Given the description of an element on the screen output the (x, y) to click on. 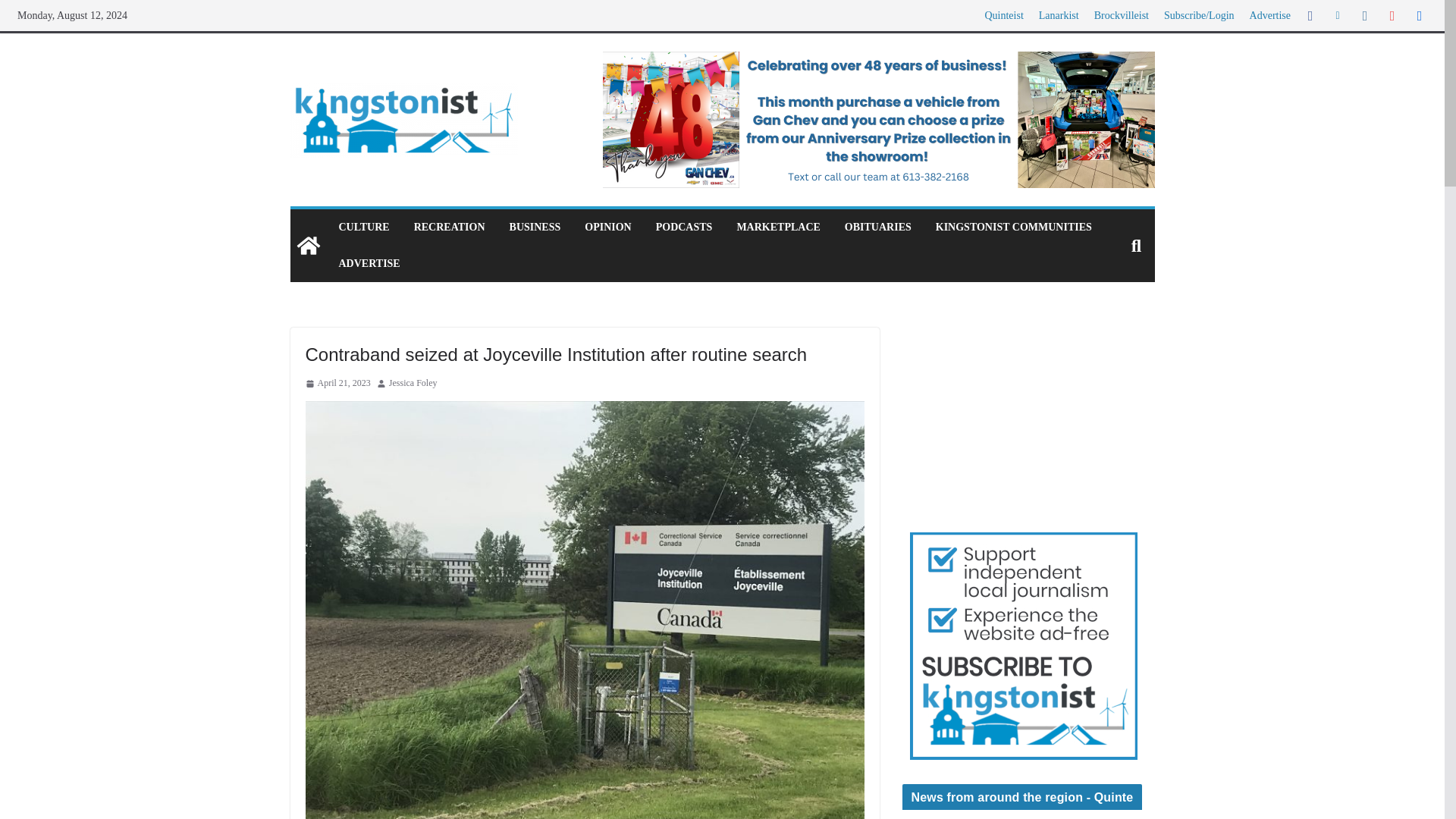
2:30 pm (336, 383)
Advertise (1269, 15)
BUSINESS (534, 227)
Jessica Foley (413, 383)
CULTURE (362, 227)
OPINION (607, 227)
ADVERTISE (367, 263)
OBITUARIES (877, 227)
Kingstonist News (1028, 414)
MARKETPLACE (777, 227)
